Given the description of an element on the screen output the (x, y) to click on. 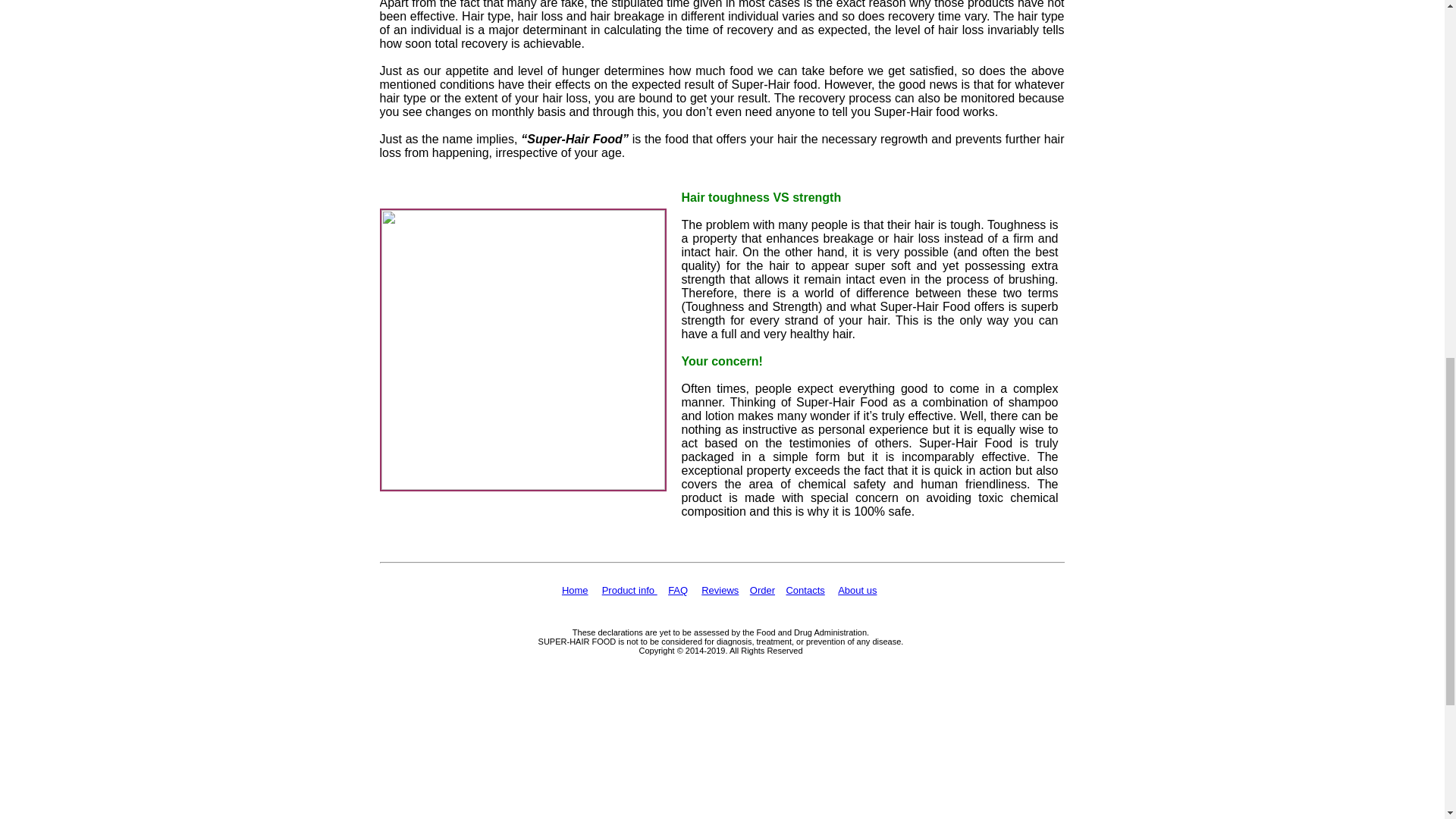
Contacts (805, 590)
Reviews (719, 590)
Product info  (630, 590)
Home (575, 590)
FAQ (677, 590)
Order (761, 590)
About us (857, 590)
